Given the description of an element on the screen output the (x, y) to click on. 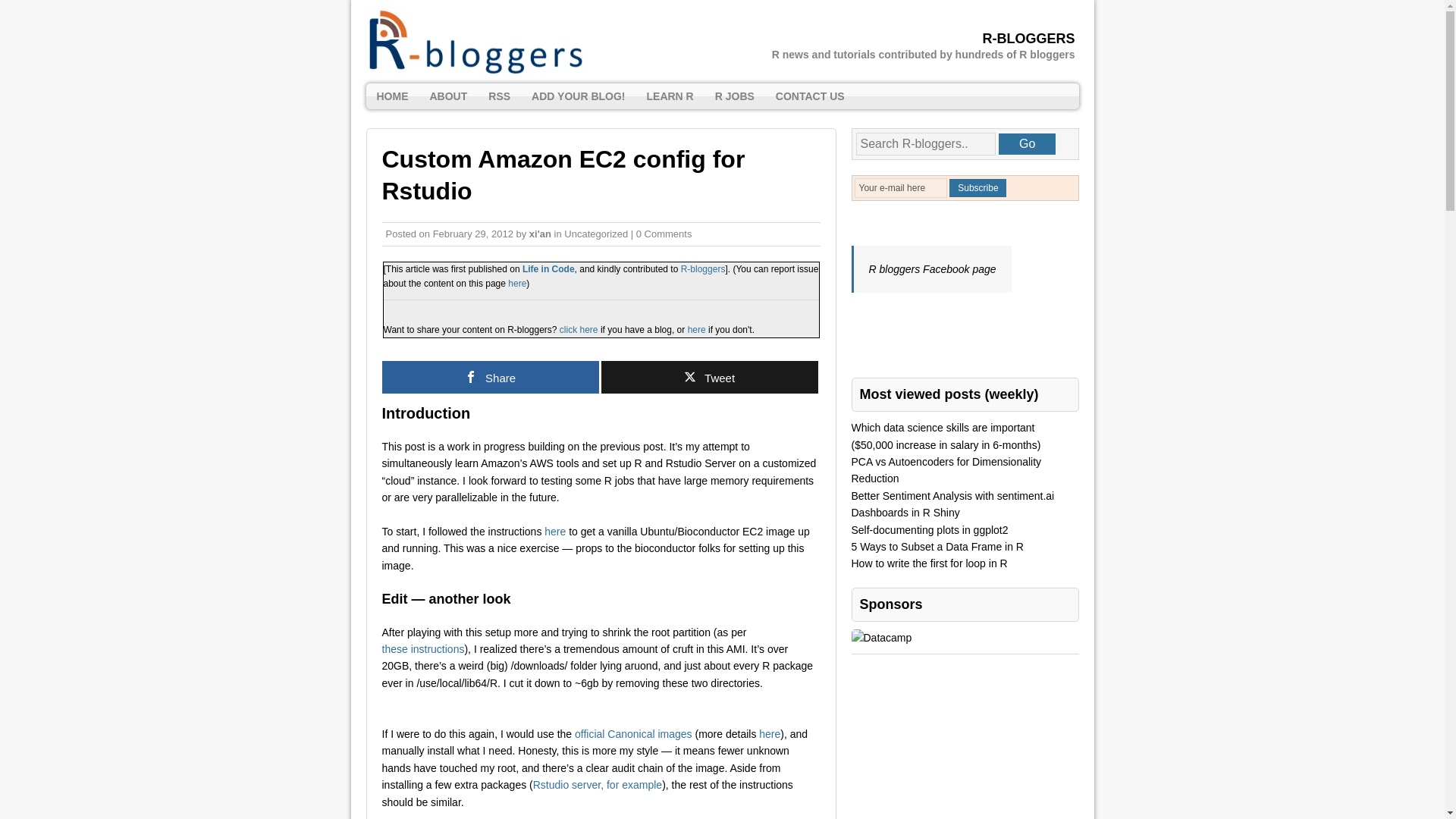
ABOUT (448, 95)
LEARN R (668, 95)
Self-documenting plots in ggplot2 (928, 530)
HOME (392, 95)
here (516, 283)
Go (1026, 143)
R-bloggers (703, 268)
official Canonical images (634, 734)
these instructions (422, 648)
